Given the description of an element on the screen output the (x, y) to click on. 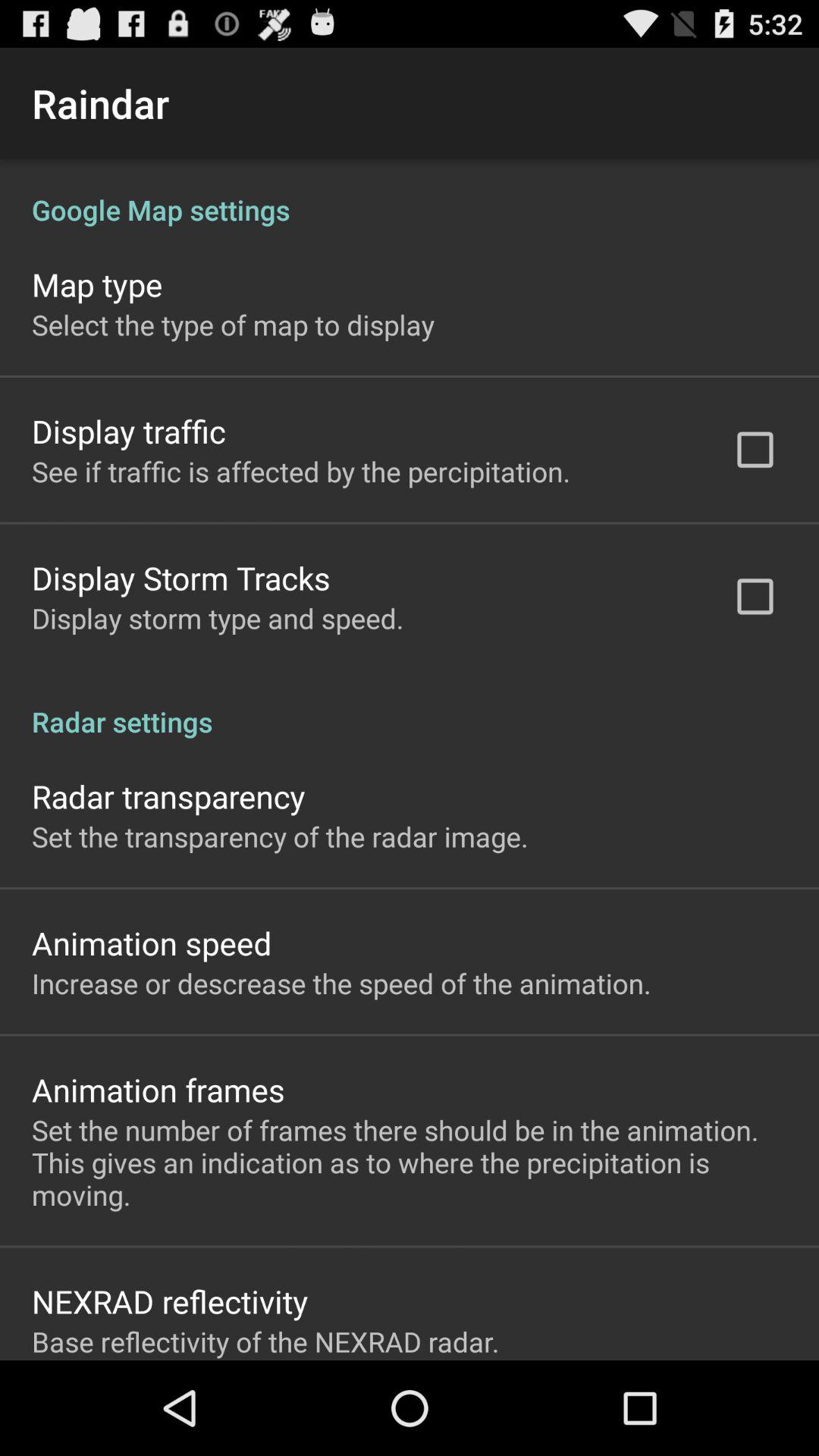
choose item below display storm type (409, 705)
